Given the description of an element on the screen output the (x, y) to click on. 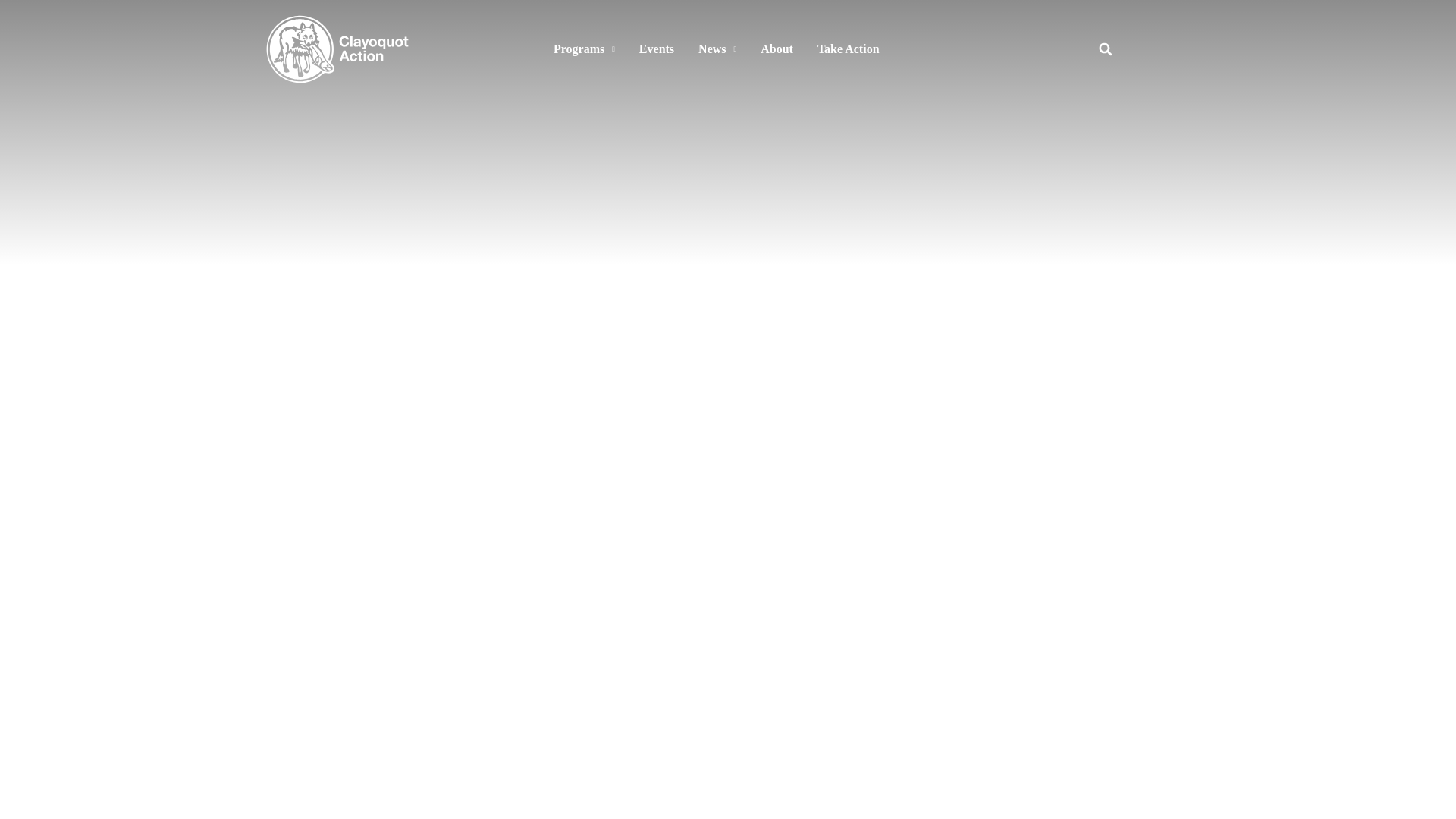
About (776, 49)
Events (656, 49)
Take Action (848, 49)
News (716, 49)
Programs (584, 49)
